Given the description of an element on the screen output the (x, y) to click on. 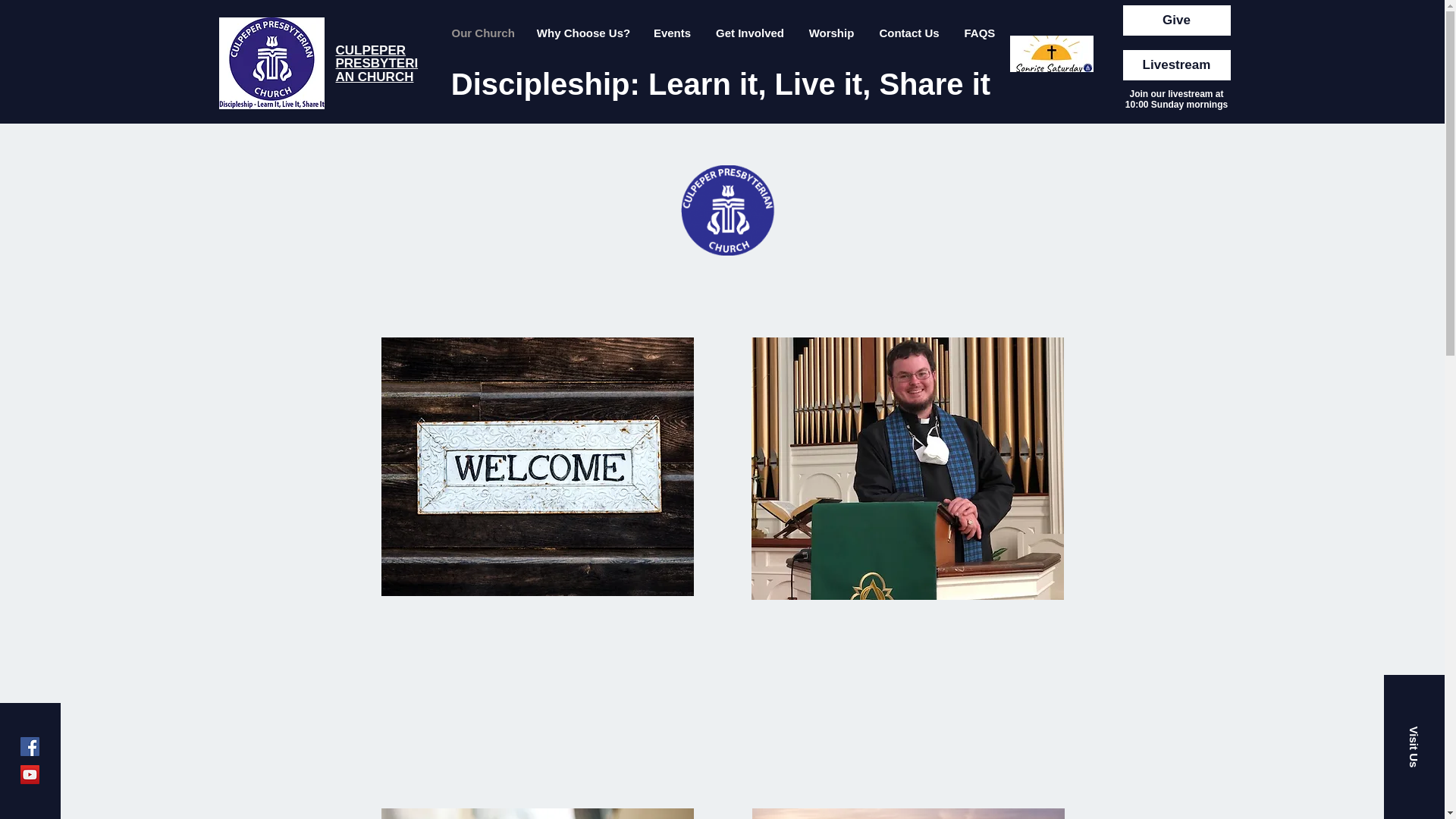
CPC Logo.gif (727, 210)
Livestream (1176, 64)
Worship (831, 33)
CULPEPER PRESBYTERIAN CHURCH (375, 63)
Give (1176, 20)
Why Choose Us? (583, 33)
Contact Us (909, 33)
Events (671, 33)
Get Involved (748, 33)
Our Church (481, 33)
